Given the description of an element on the screen output the (x, y) to click on. 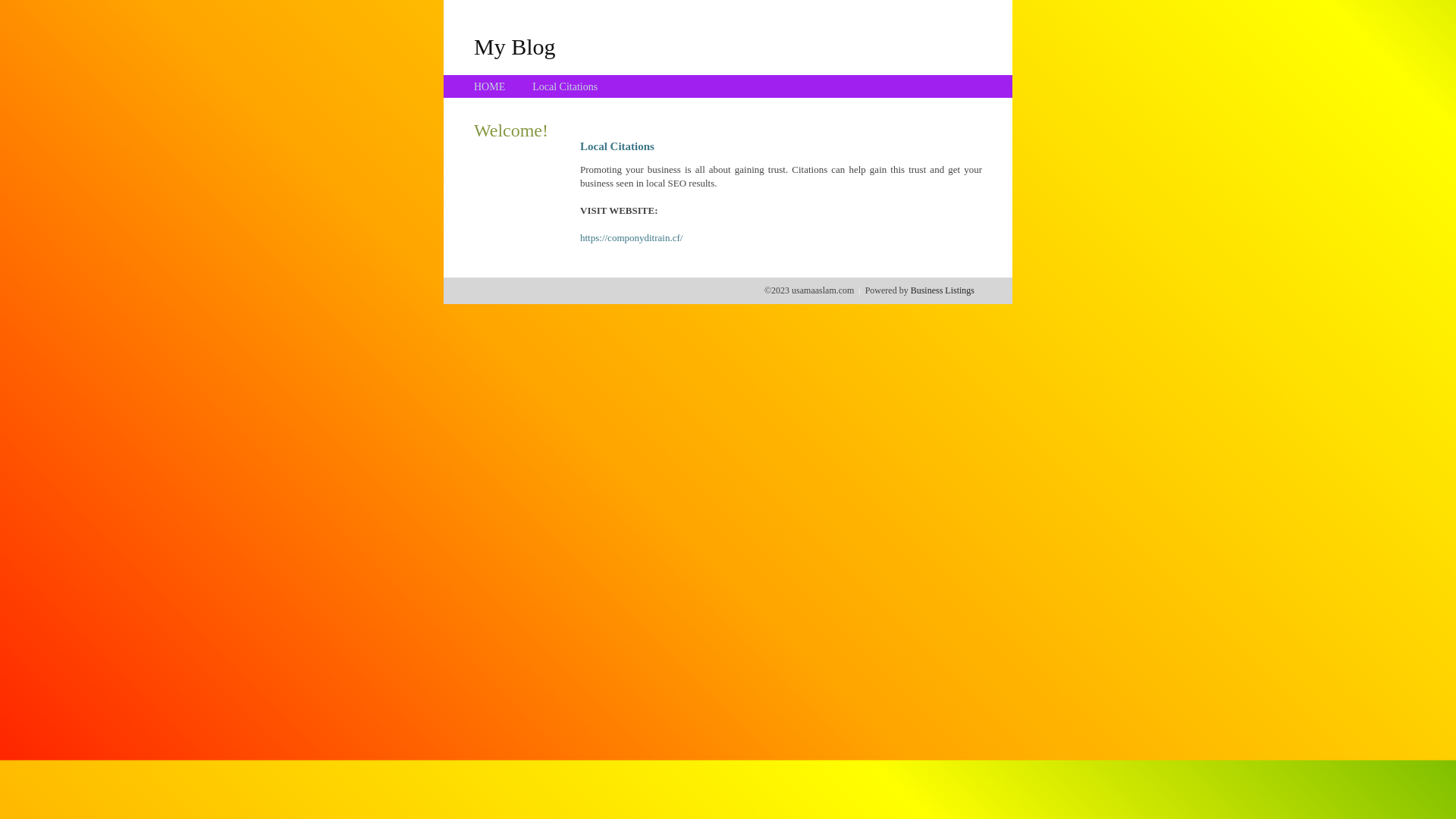
https://componyditrain.cf/ Element type: text (631, 237)
Business Listings Element type: text (942, 290)
My Blog Element type: text (514, 46)
HOME Element type: text (489, 86)
Local Citations Element type: text (564, 86)
